Given the description of an element on the screen output the (x, y) to click on. 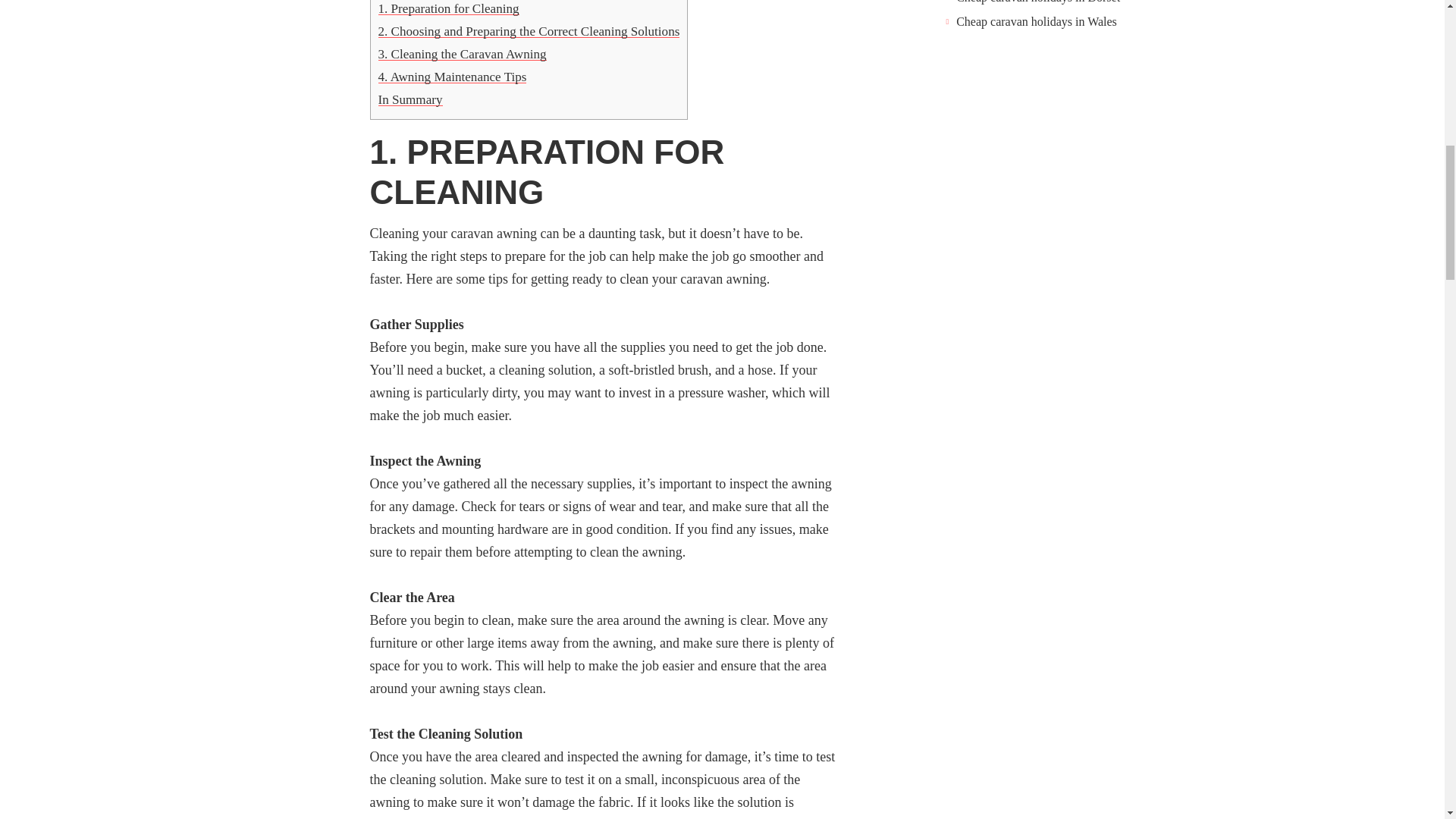
1. Preparation for Cleaning (447, 8)
Cheap caravan holidays in Wales (1036, 21)
Cheap caravan holidays in Dorset (1037, 2)
In Summary (409, 99)
3. Cleaning the Caravan Awning (461, 53)
2. Choosing and Preparing the Correct Cleaning Solutions (528, 31)
4. Awning Maintenance Tips (451, 76)
